Given the description of an element on the screen output the (x, y) to click on. 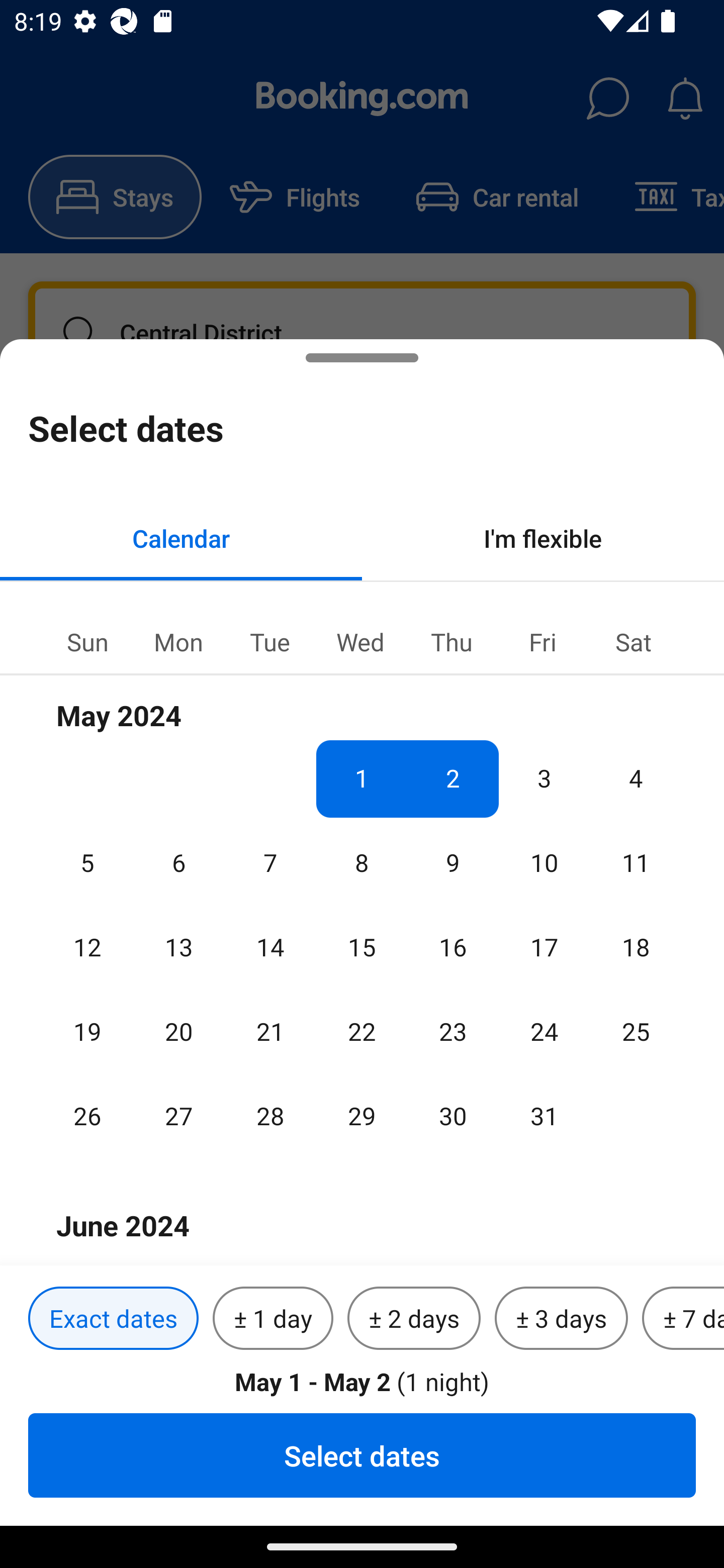
I'm flexible (543, 537)
Exact dates (113, 1318)
± 1 day (272, 1318)
± 2 days (413, 1318)
± 3 days (560, 1318)
± 7 days (683, 1318)
Select dates (361, 1454)
